Given the description of an element on the screen output the (x, y) to click on. 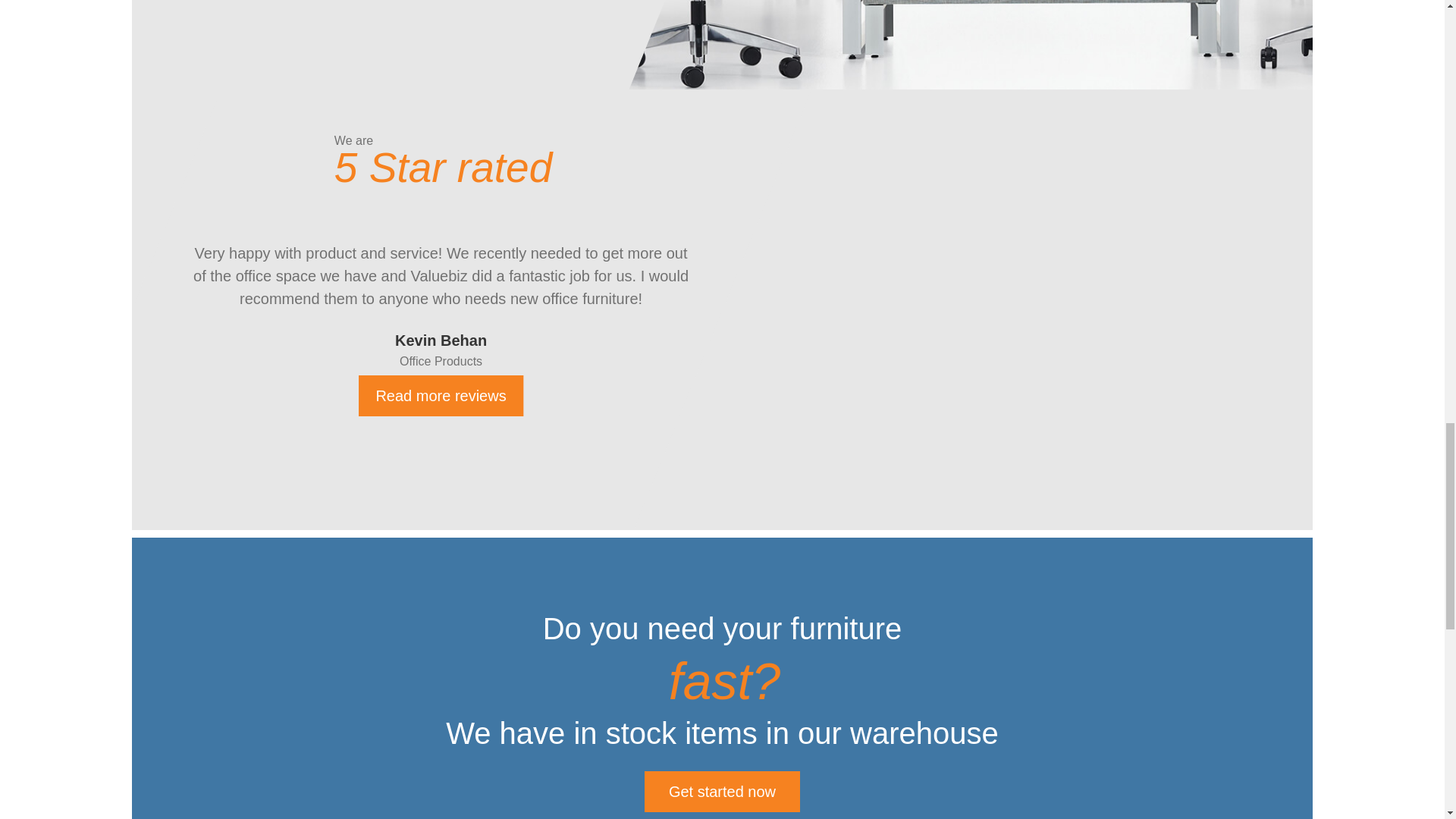
Read more reviews (440, 395)
Get started now (722, 791)
